Given the description of an element on the screen output the (x, y) to click on. 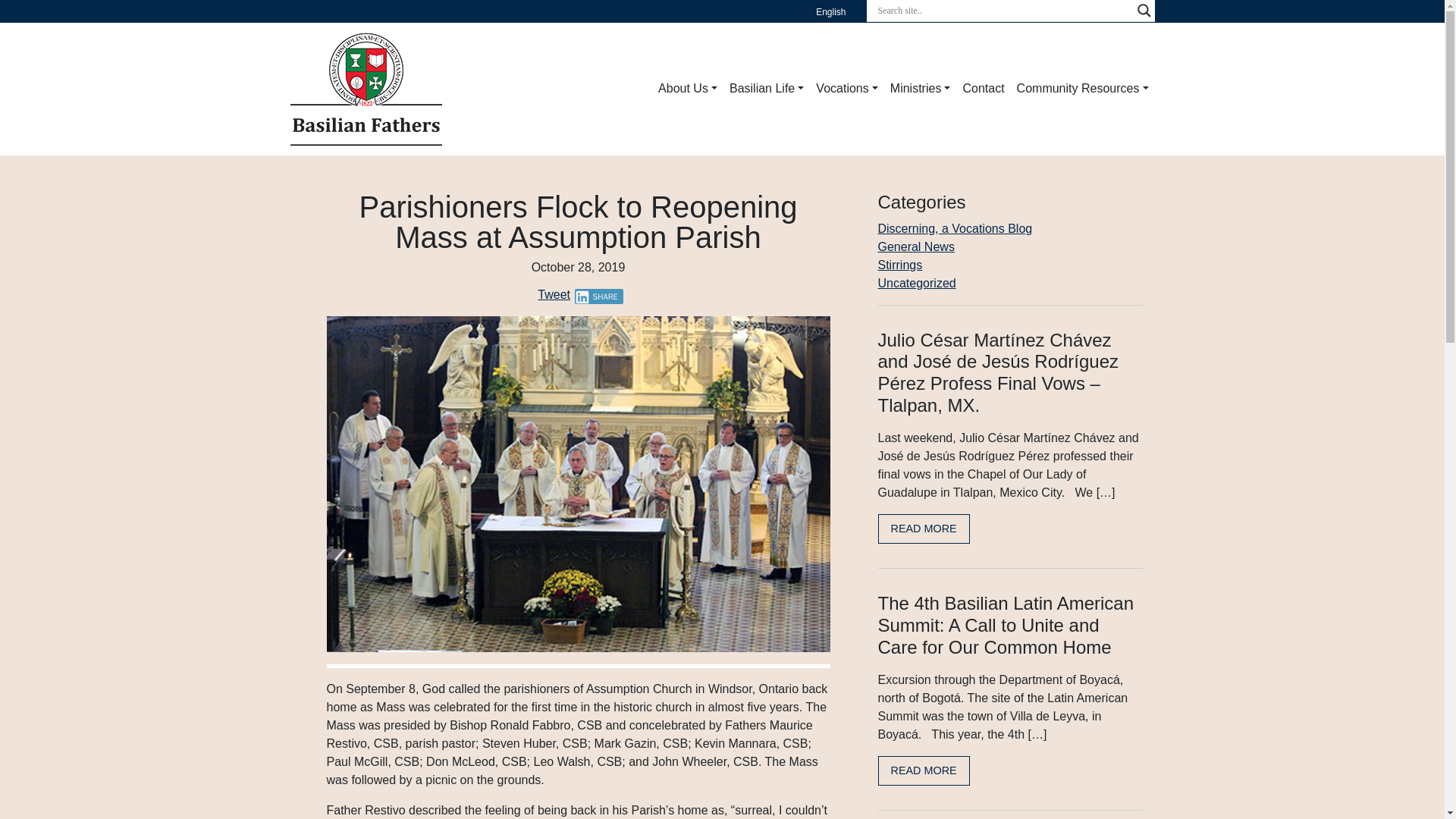
Tweet (553, 294)
English (830, 12)
Community Resources (1082, 88)
Vocations (846, 88)
Contact (983, 88)
SHARE (599, 296)
Basilian Life (766, 88)
About Us (687, 88)
Ministries (919, 88)
About Us (687, 88)
